Given the description of an element on the screen output the (x, y) to click on. 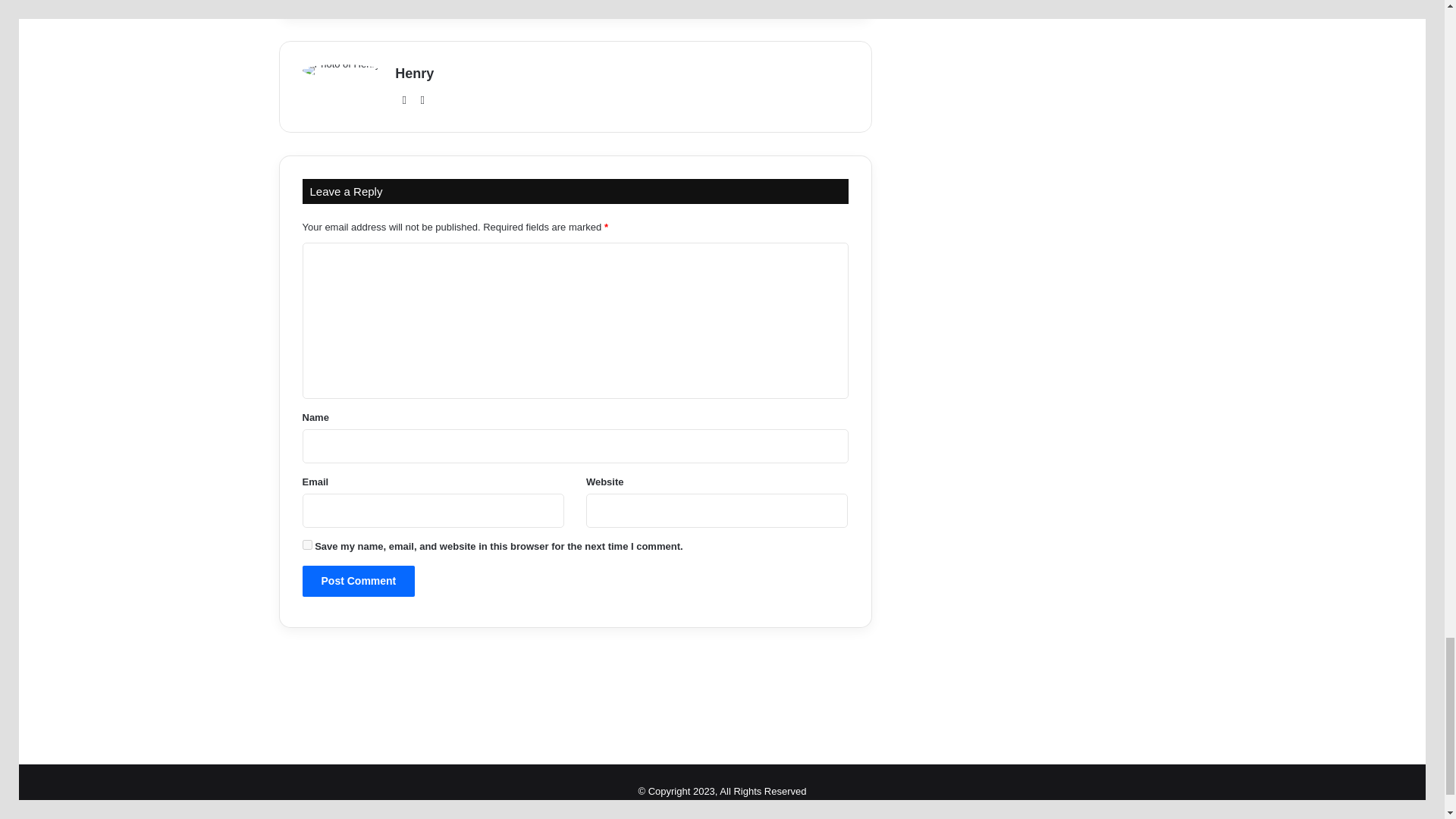
Pinterest (569, 1)
Facebook (352, 1)
Share via Email (678, 1)
LinkedIn (496, 1)
Reddit (606, 1)
Print (713, 1)
VKontakte (642, 1)
Tumblr (533, 1)
X (443, 1)
Post Comment (357, 581)
